Given the description of an element on the screen output the (x, y) to click on. 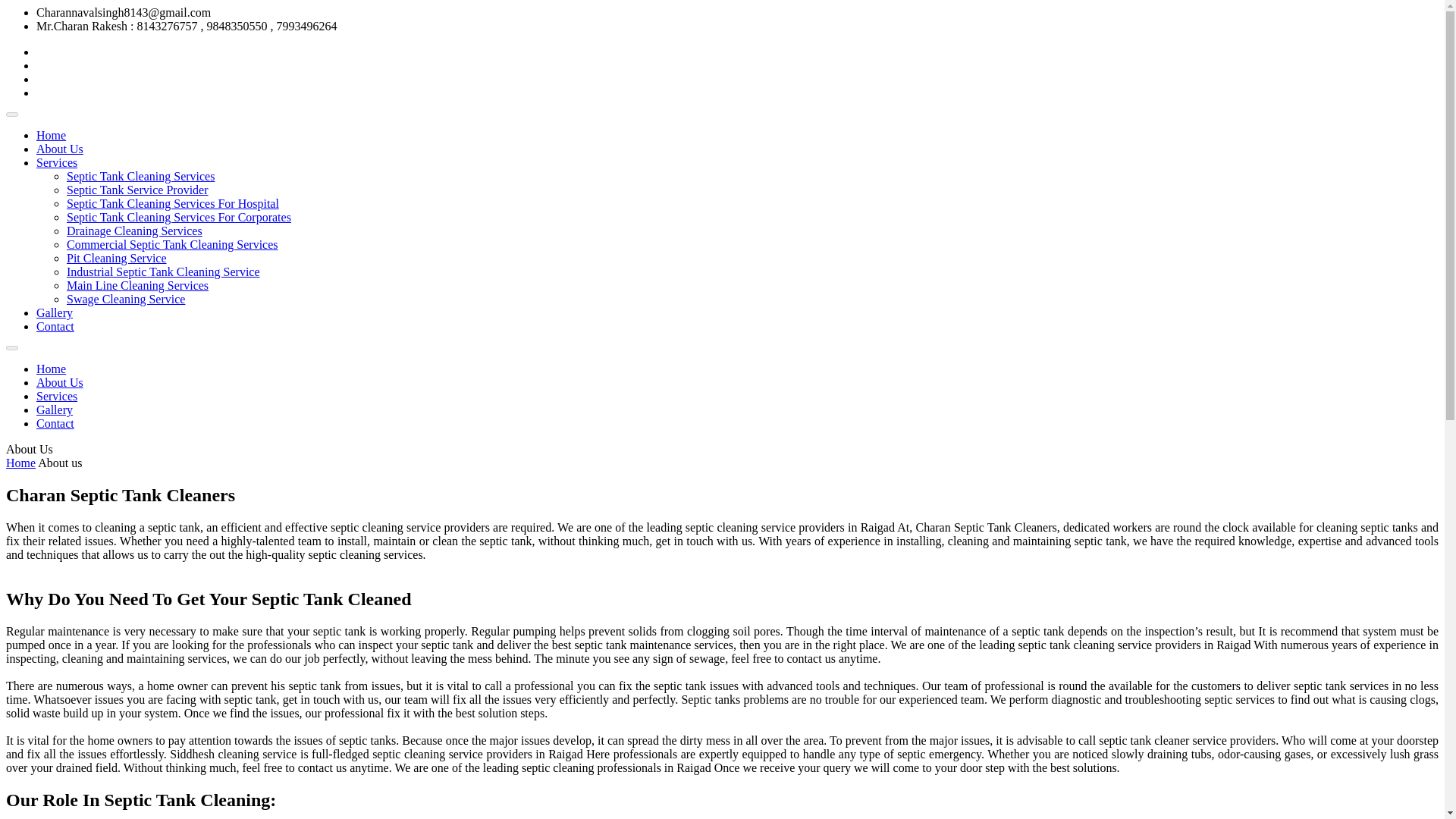
Swage Cleaning Service (125, 298)
About Us (59, 382)
Services (56, 162)
Home (50, 134)
Home (19, 462)
Services (56, 395)
Home (50, 368)
Septic Tank Service Provider (137, 189)
Contact (55, 422)
Gallery (54, 312)
Gallery (54, 409)
Commercial Septic Tank Cleaning Services (172, 244)
About Us (59, 148)
Drainage Cleaning Services (134, 230)
Main Line Cleaning Services (137, 285)
